Given the description of an element on the screen output the (x, y) to click on. 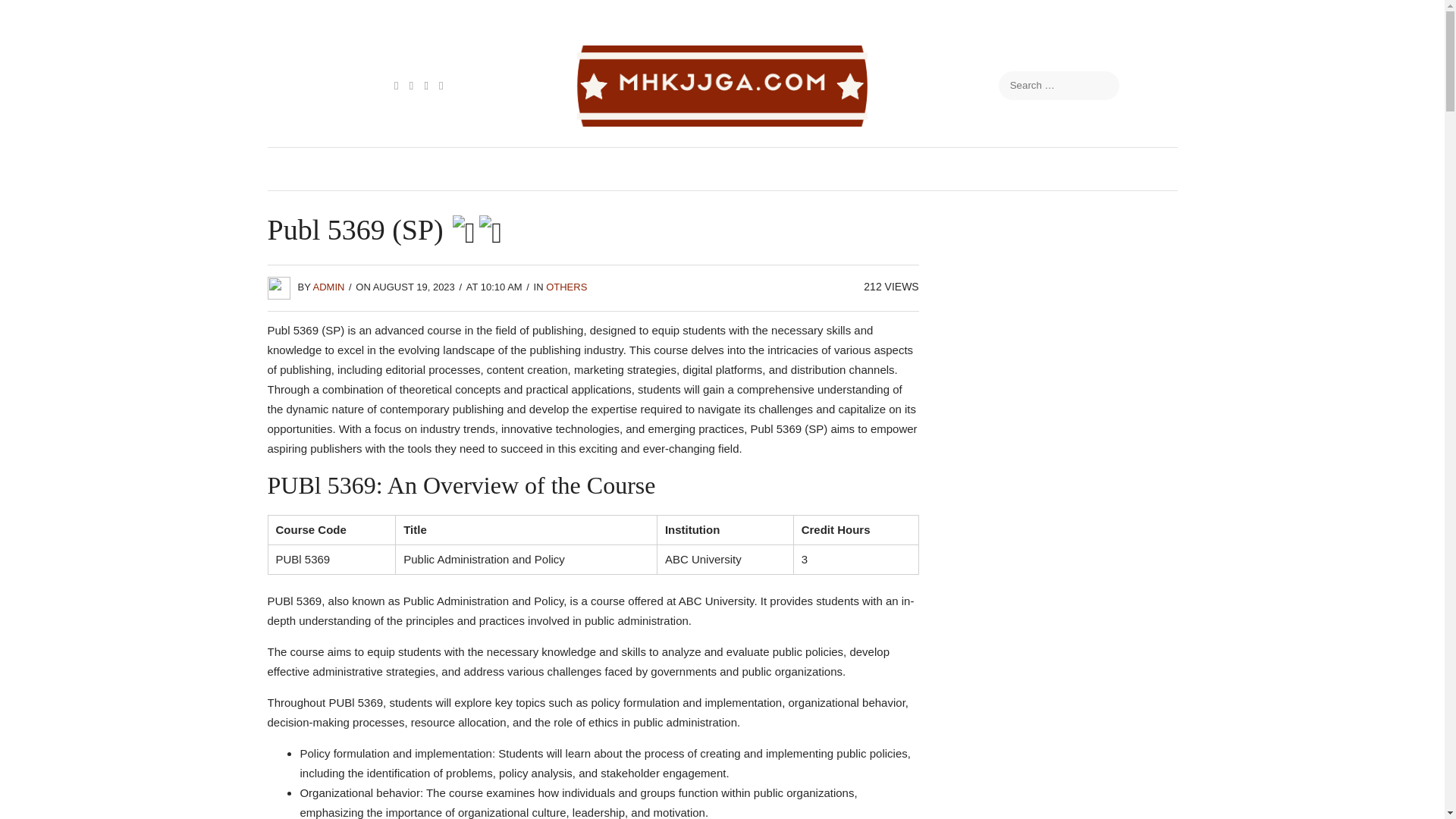
Posts by admin (329, 286)
LOGIN (935, 169)
OTHERS (566, 286)
ADMIN (329, 286)
LIFESTYLE (852, 169)
ONLINE (1009, 169)
GAME (697, 169)
DECORATION (540, 169)
FOOD (452, 169)
WOMAN (1087, 169)
